Given the description of an element on the screen output the (x, y) to click on. 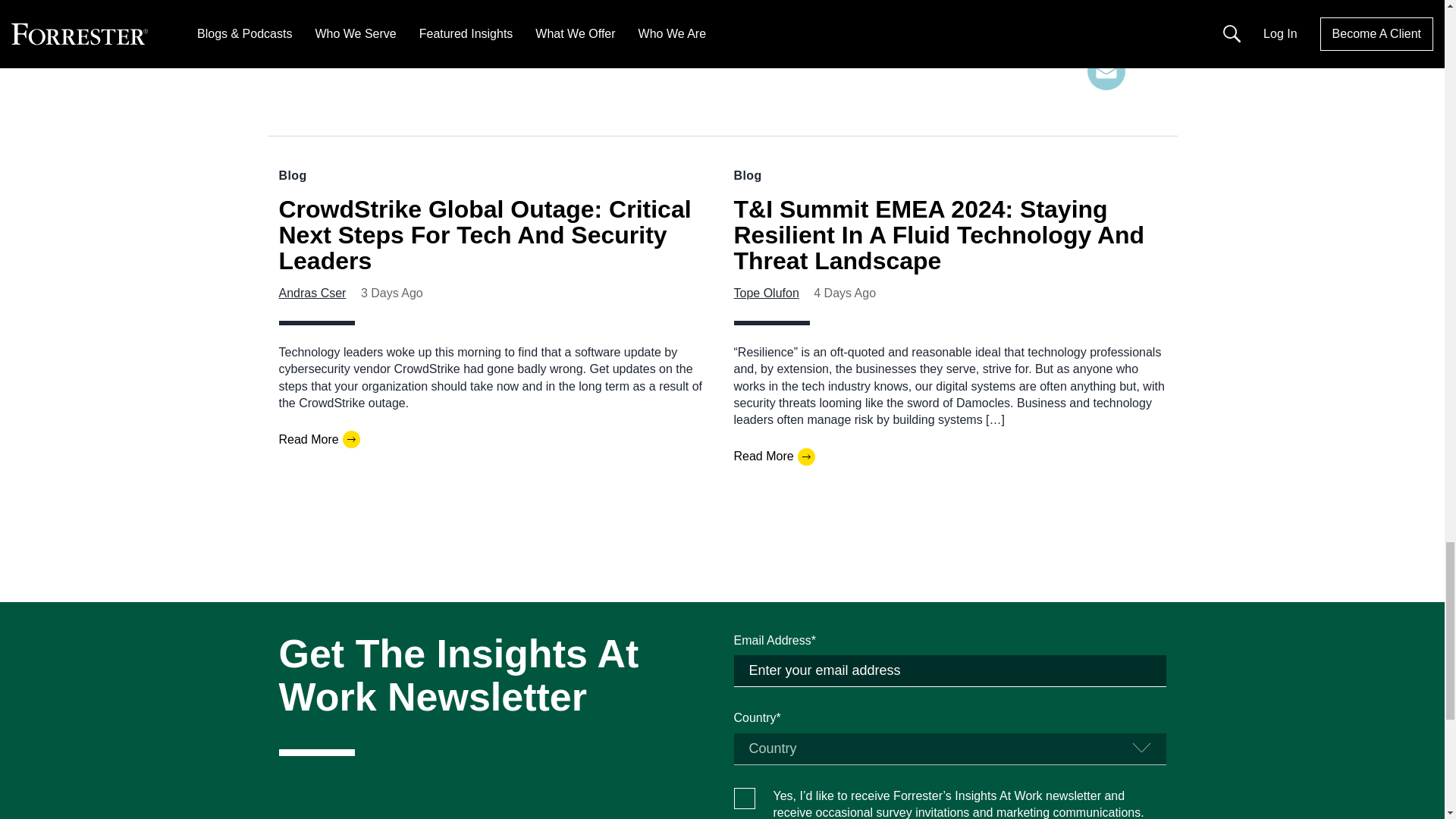
Andras Cser (312, 292)
Tope Olufon (766, 292)
